Given the description of an element on the screen output the (x, y) to click on. 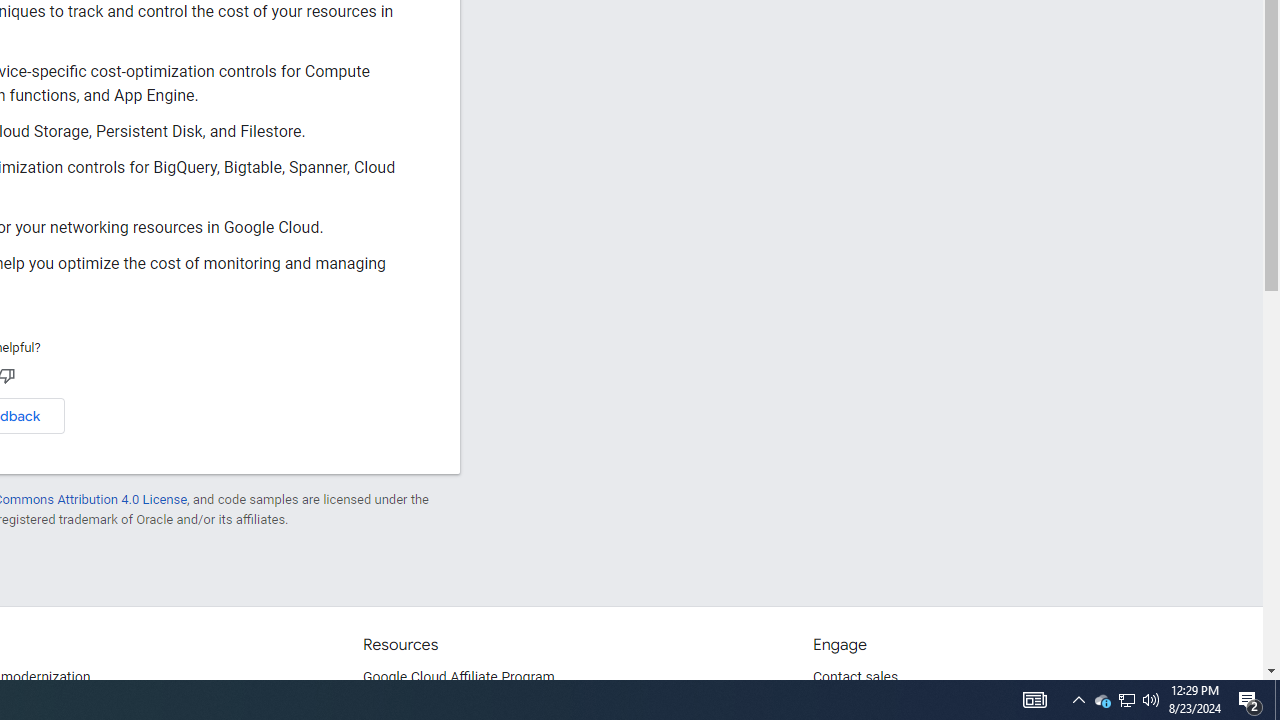
Google Cloud Affiliate Program (459, 677)
Contact sales (855, 677)
